Given the description of an element on the screen output the (x, y) to click on. 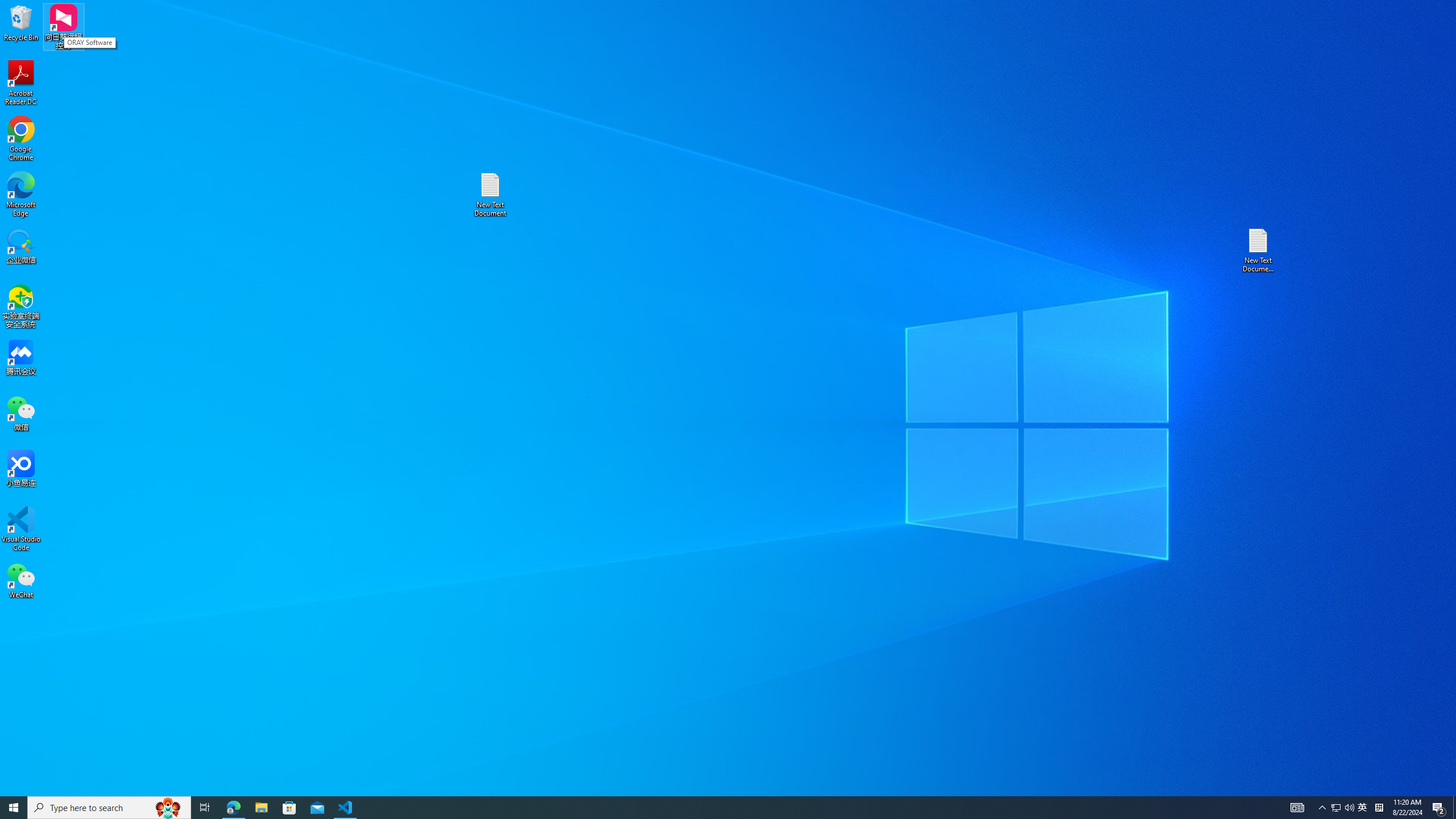
New Text Document (2) (1258, 250)
Visual Studio Code (21, 528)
